Given the description of an element on the screen output the (x, y) to click on. 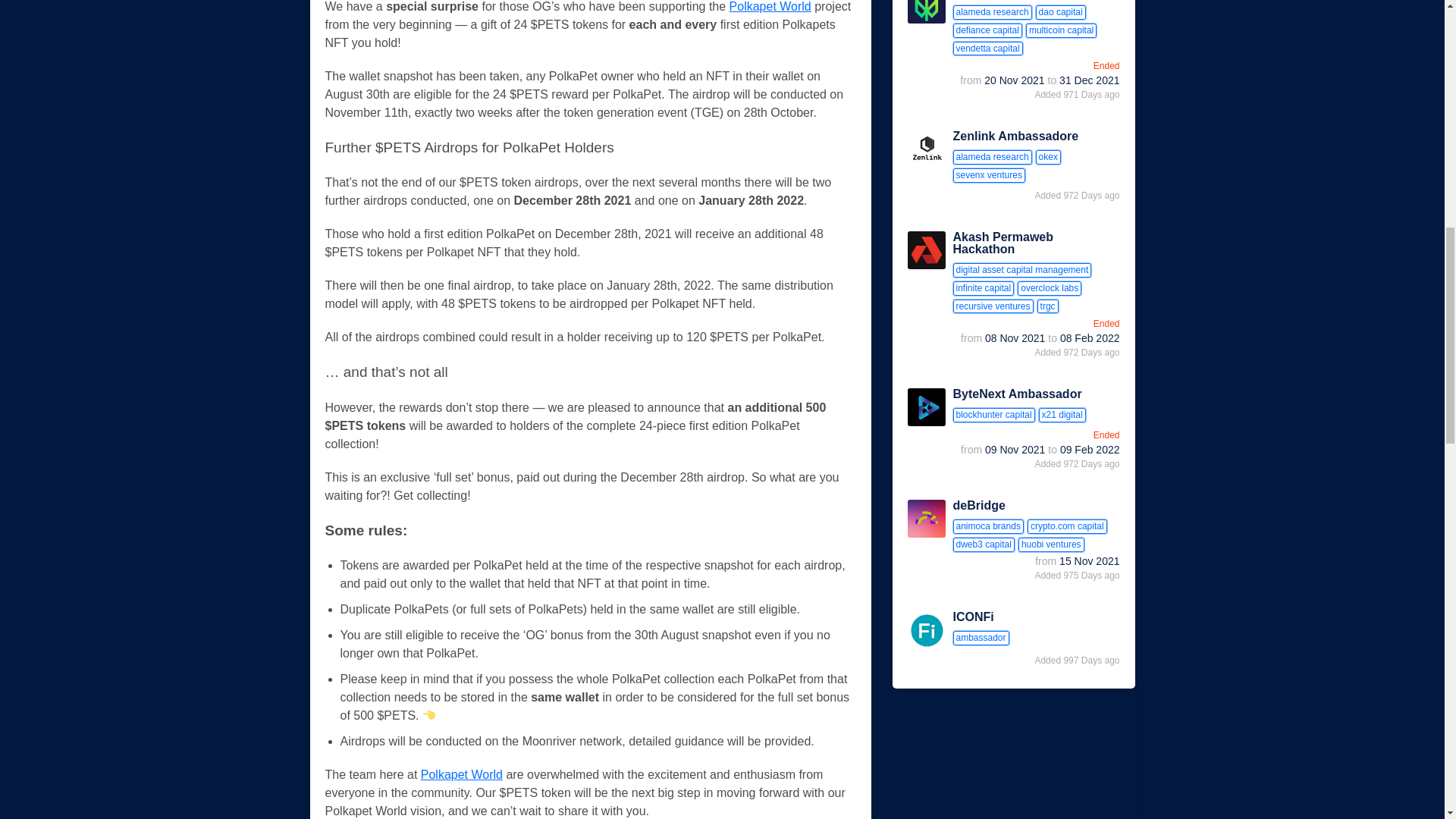
Polkapet World (769, 6)
Polkapet World (461, 774)
